Given the description of an element on the screen output the (x, y) to click on. 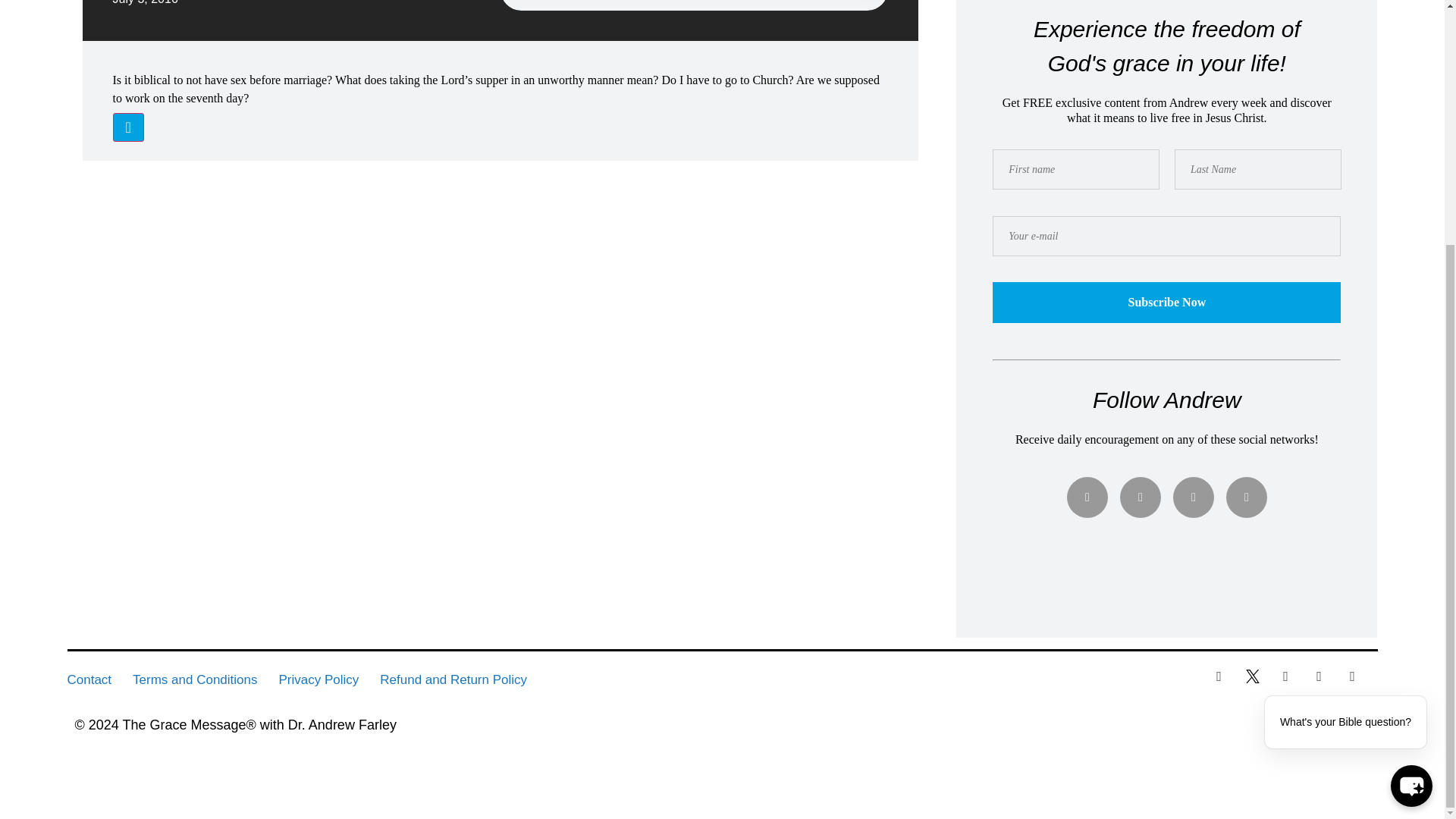
Instagram (1193, 496)
Twitter (1139, 496)
Subscribe Now (1166, 301)
Facebook (1087, 496)
youtube (1245, 496)
Download (127, 127)
